Given the description of an element on the screen output the (x, y) to click on. 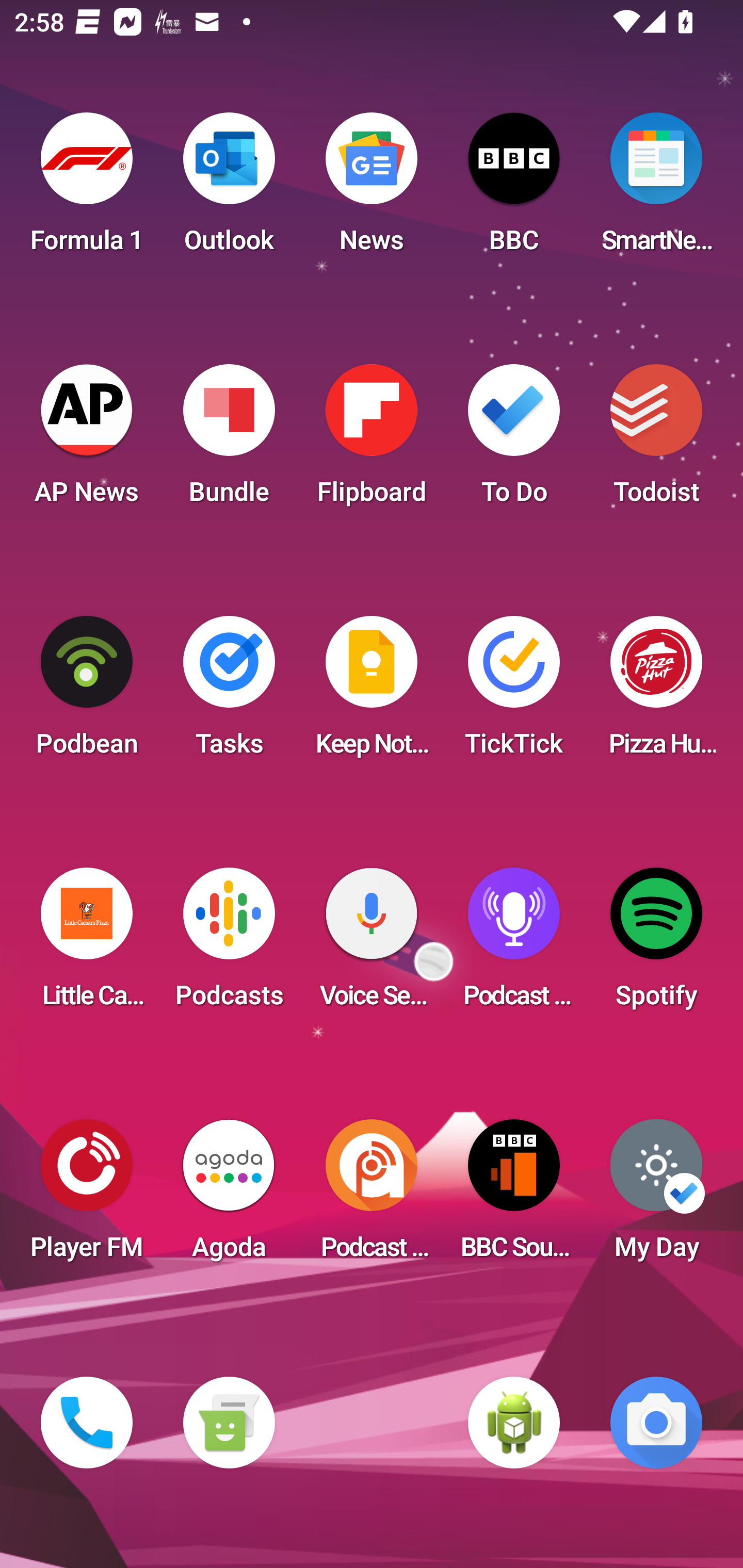
Formula 1 (86, 188)
Outlook (228, 188)
News (371, 188)
BBC (513, 188)
SmartNews (656, 188)
AP News (86, 440)
Bundle (228, 440)
Flipboard (371, 440)
To Do (513, 440)
Todoist (656, 440)
Podbean (86, 692)
Tasks (228, 692)
Keep Notes (371, 692)
TickTick (513, 692)
Pizza Hut HK & Macau (656, 692)
Little Caesars Pizza (86, 943)
Podcasts (228, 943)
Voice Search (371, 943)
Podcast Player (513, 943)
Spotify (656, 943)
Player FM (86, 1195)
Agoda (228, 1195)
Podcast Addict (371, 1195)
BBC Sounds (513, 1195)
My Day (656, 1195)
Phone (86, 1422)
Messaging (228, 1422)
WebView Browser Tester (513, 1422)
Camera (656, 1422)
